Given the description of an element on the screen output the (x, y) to click on. 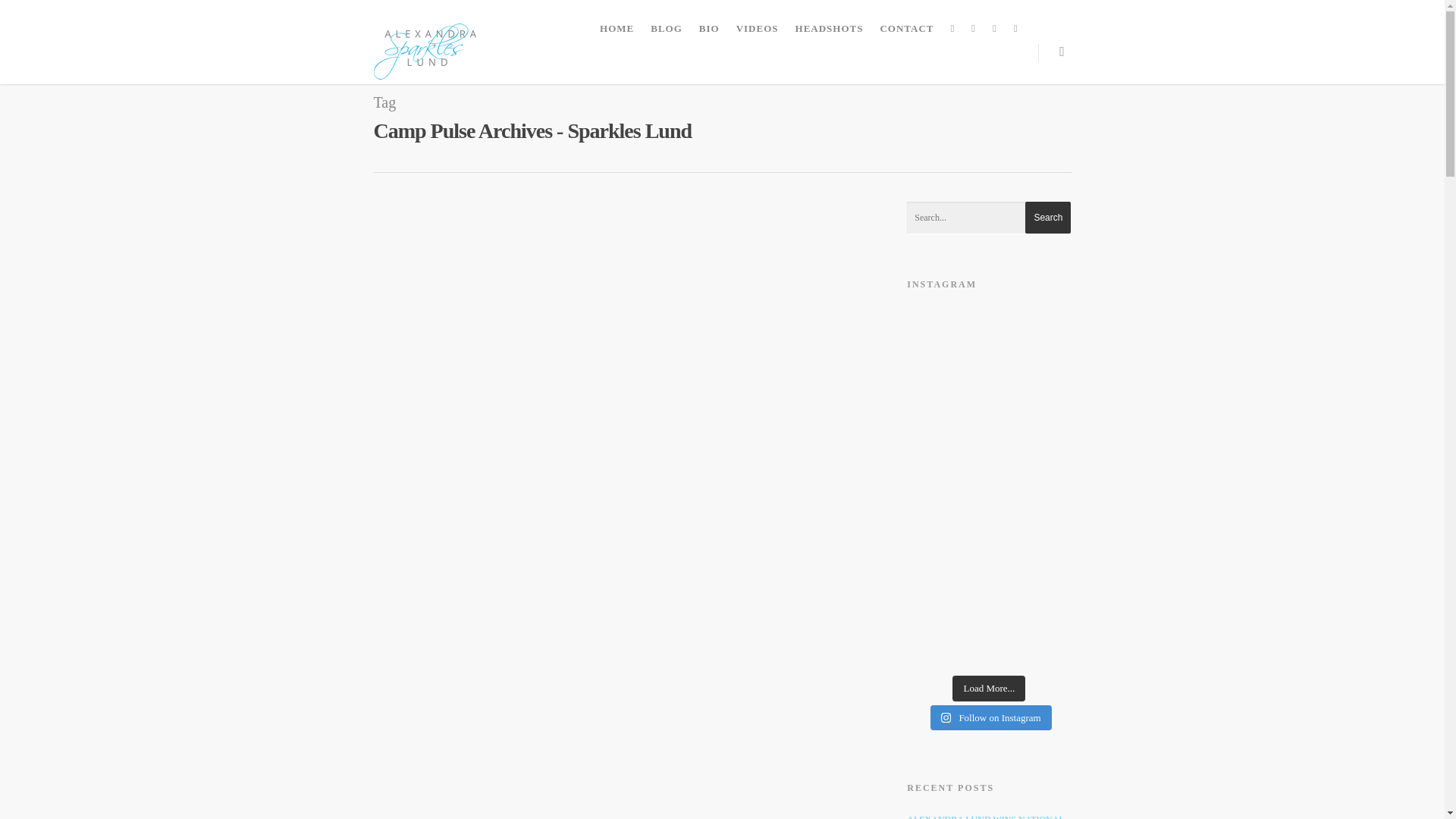
Search (1047, 217)
Search (1047, 217)
BIO (708, 28)
BLOG (666, 28)
Search for: (988, 217)
CONTACT (906, 28)
HEADSHOTS (828, 28)
HOME (617, 28)
VIDEOS (757, 28)
